Given the description of an element on the screen output the (x, y) to click on. 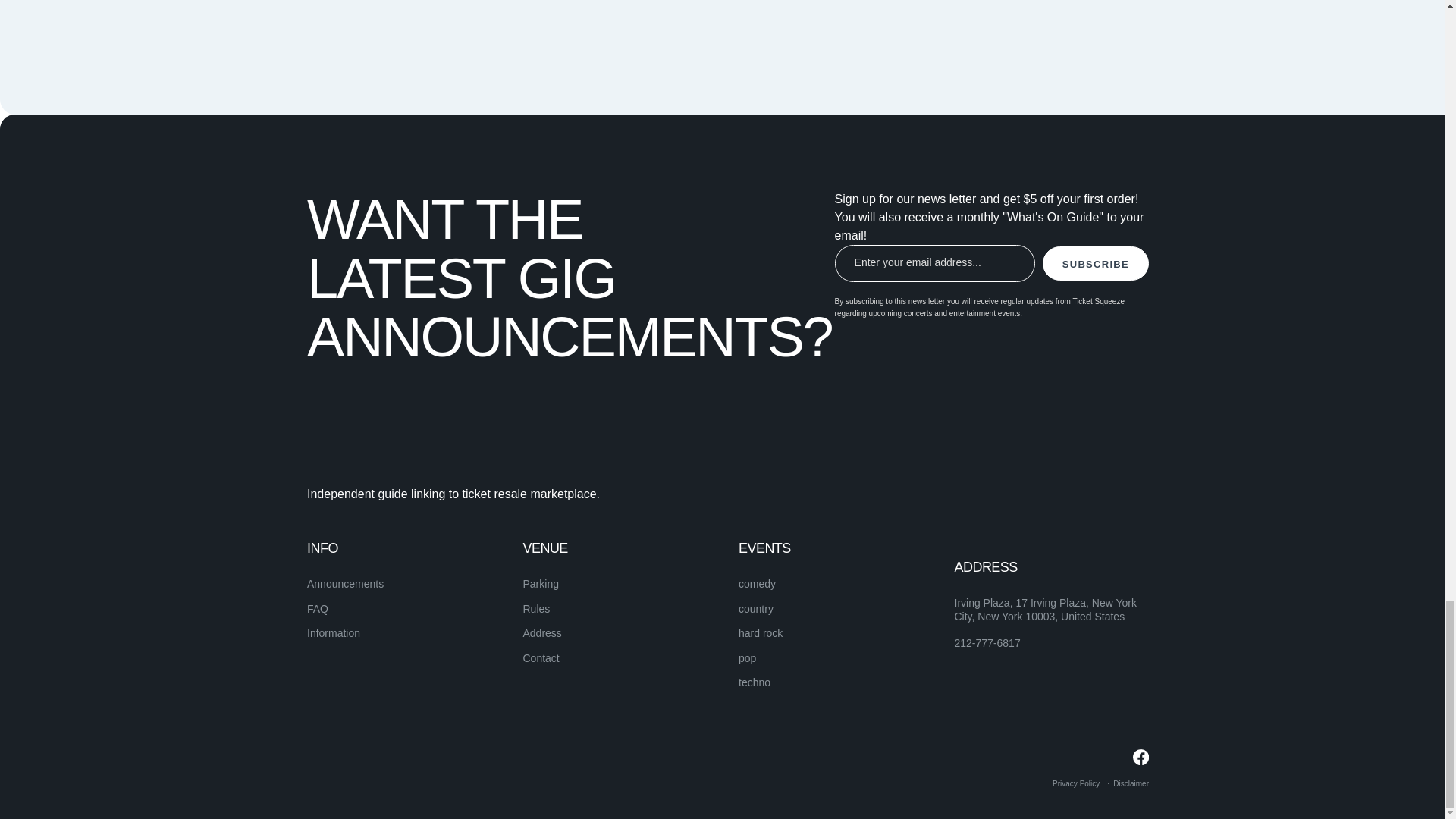
FAQ (318, 608)
pop (746, 657)
212-777-6817 (986, 643)
Information (333, 633)
comedy (757, 583)
hard rock (760, 633)
Contact (540, 657)
Parking (540, 583)
Address (542, 633)
Privacy Policy (1075, 783)
